Given the description of an element on the screen output the (x, y) to click on. 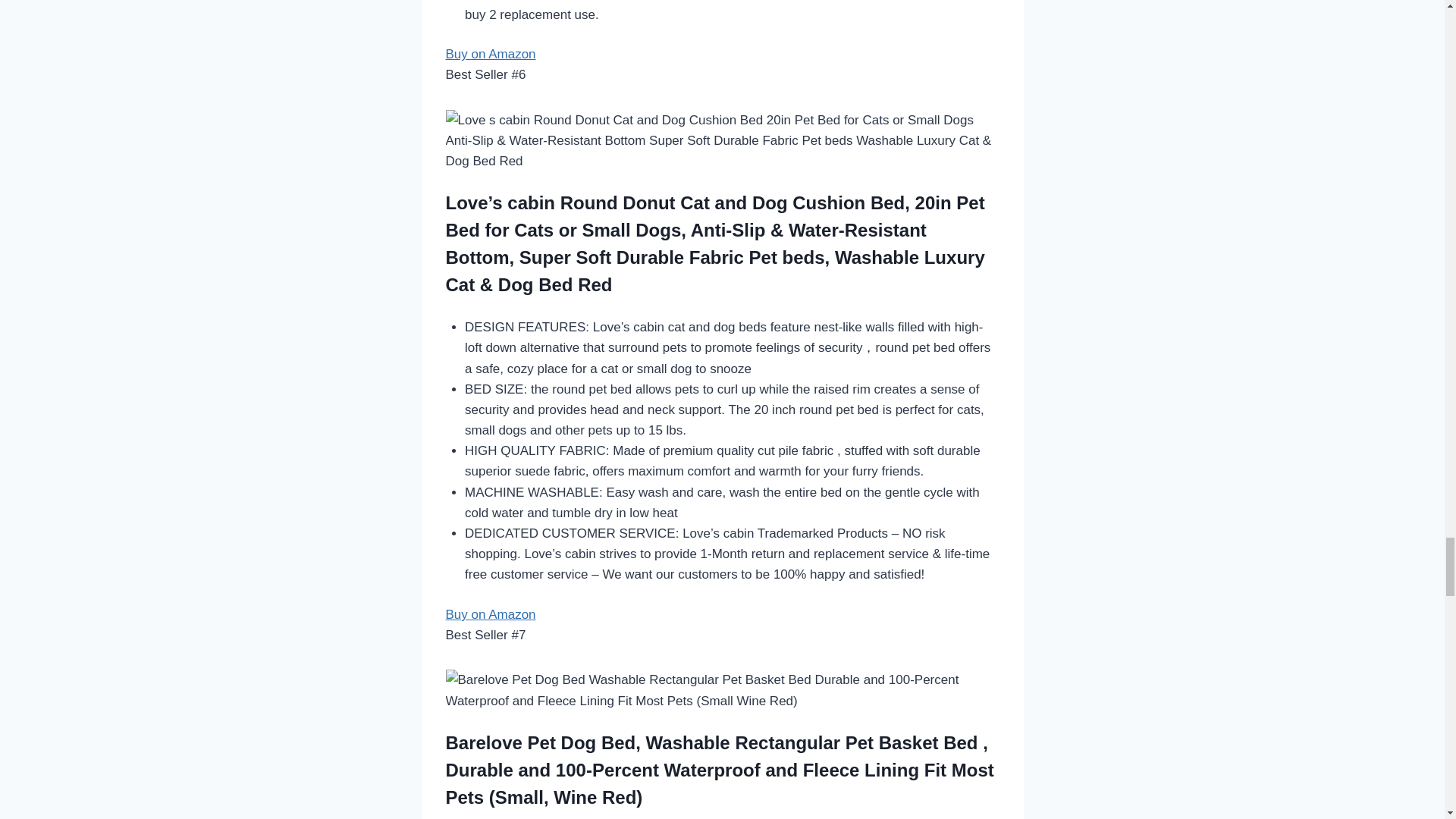
Buy on Amazon (715, 243)
Buy on Amazon (490, 614)
Buy on Amazon (490, 53)
